Given the description of an element on the screen output the (x, y) to click on. 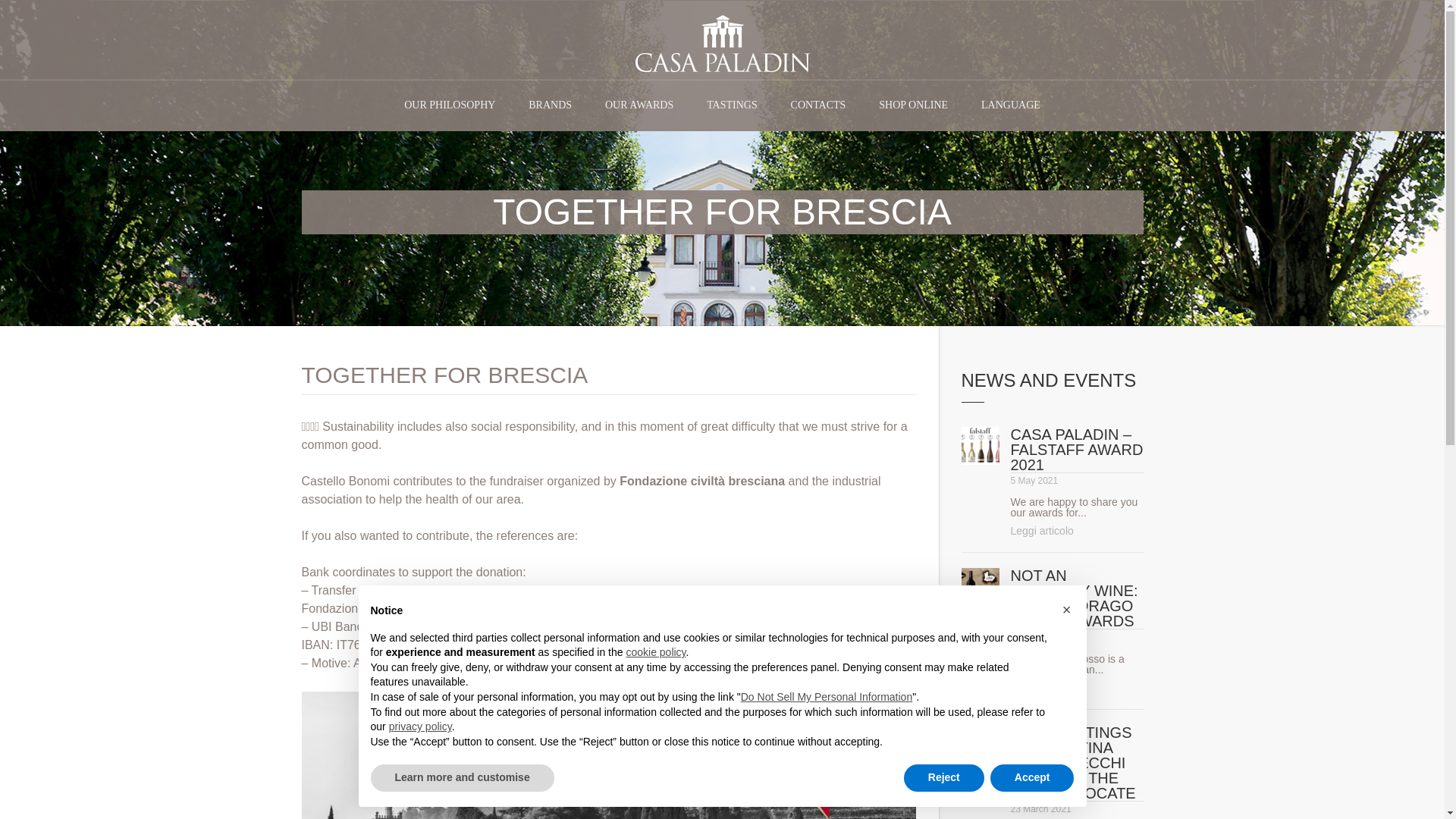
Leggi articolo (1041, 687)
CONTACTS (818, 105)
NOT AN ORDINARY WINE: MERLOT DRAGO ROSSO AWARDS (1073, 598)
LANGUAGE (1010, 105)
SHOP ONLINE (912, 105)
OUR PHILOSOPHY (449, 105)
BRANDS (549, 105)
TASTINGS (732, 105)
Leggi articolo (1041, 531)
